Given the description of an element on the screen output the (x, y) to click on. 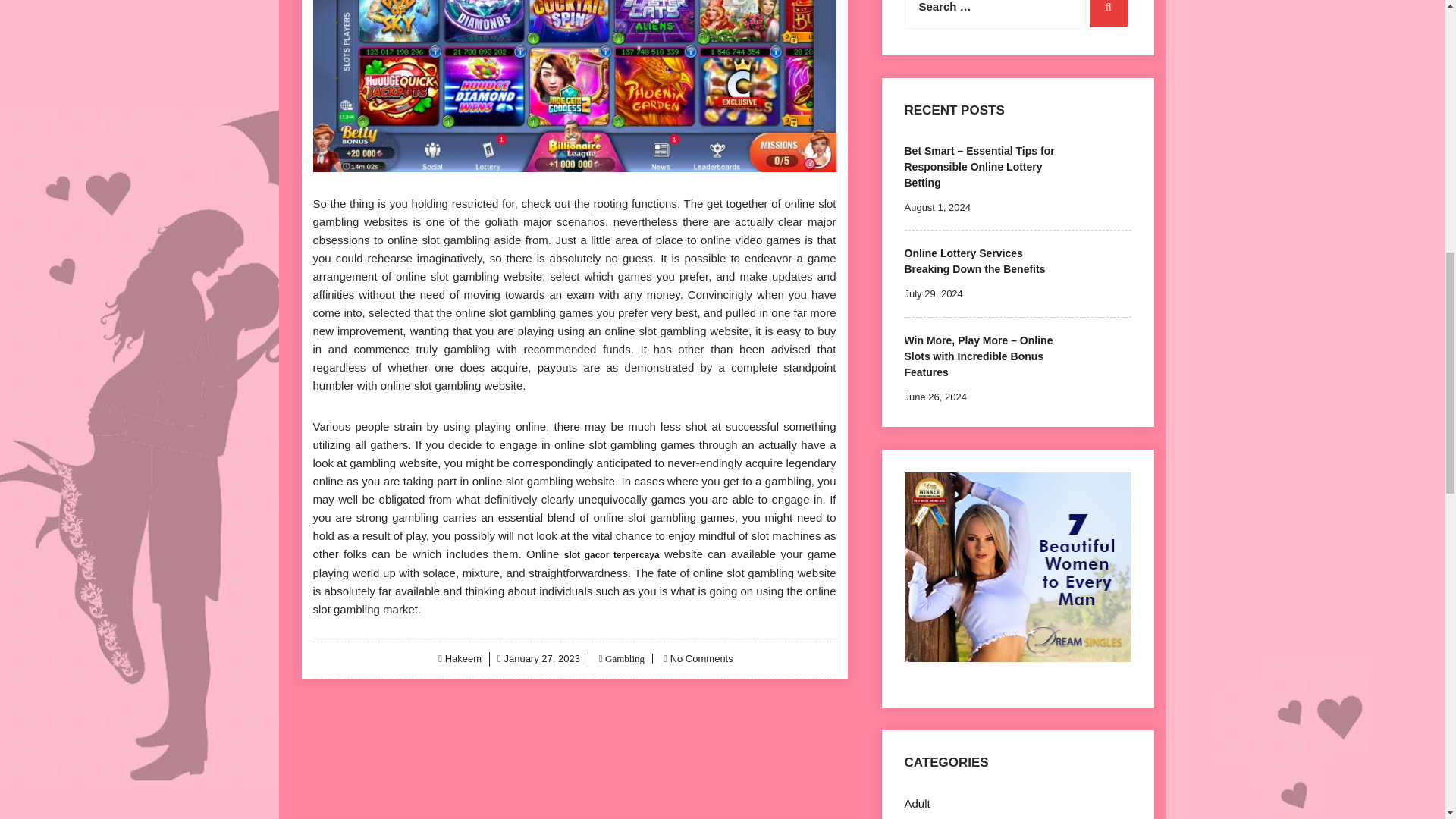
Search (1107, 13)
slot gacor terpercaya (611, 553)
Gambling (623, 658)
Hakeem (463, 658)
January 27, 2023 (541, 658)
Adult (917, 802)
Online Lottery Services Breaking Down the Benefits (974, 261)
No Comments (701, 658)
